Given the description of an element on the screen output the (x, y) to click on. 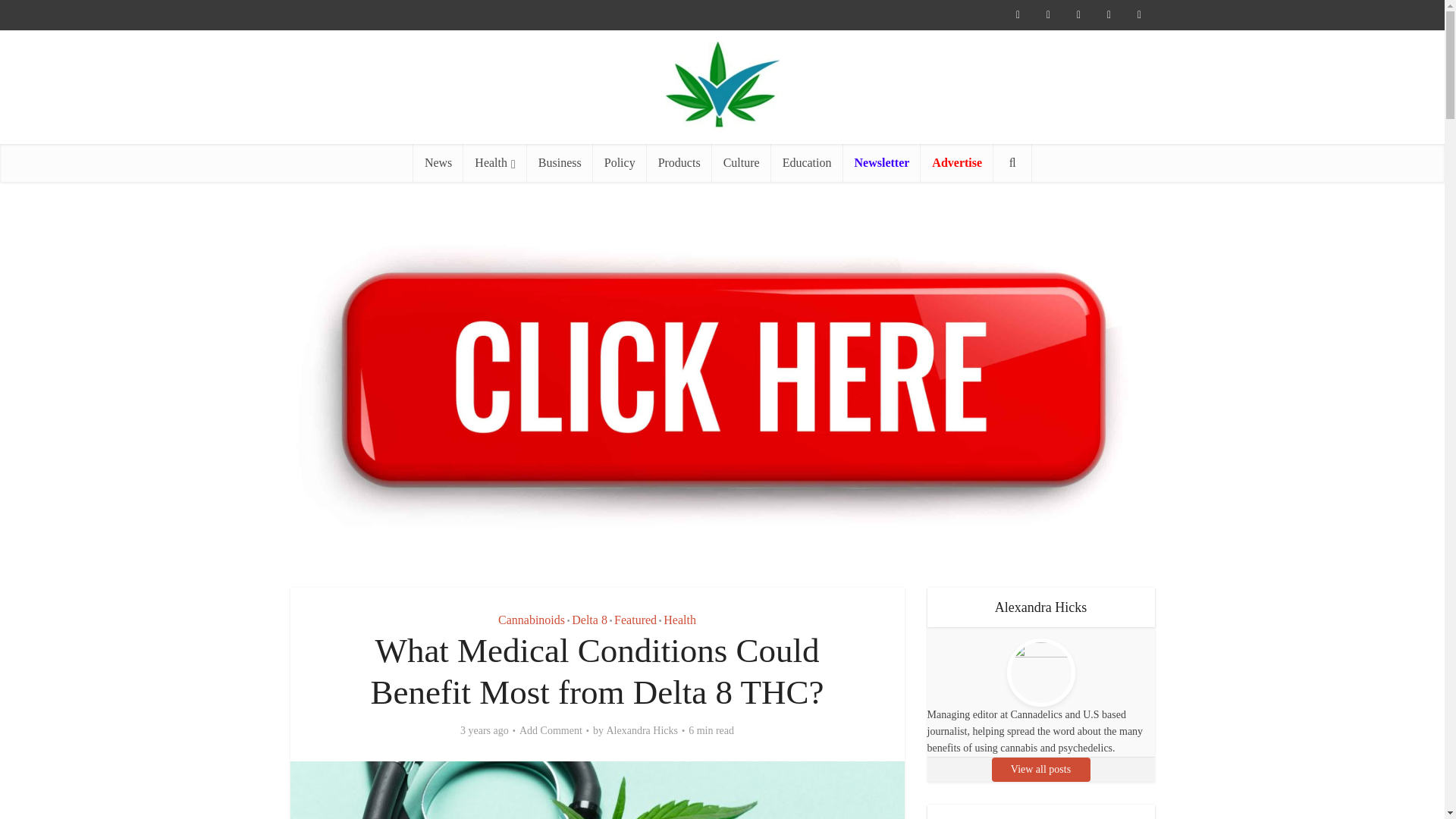
Culture (741, 162)
News (438, 162)
Advertise (956, 162)
Business (559, 162)
Health (495, 162)
Newsletter (882, 162)
Education (807, 162)
Products (678, 162)
Policy (619, 162)
